Given the description of an element on the screen output the (x, y) to click on. 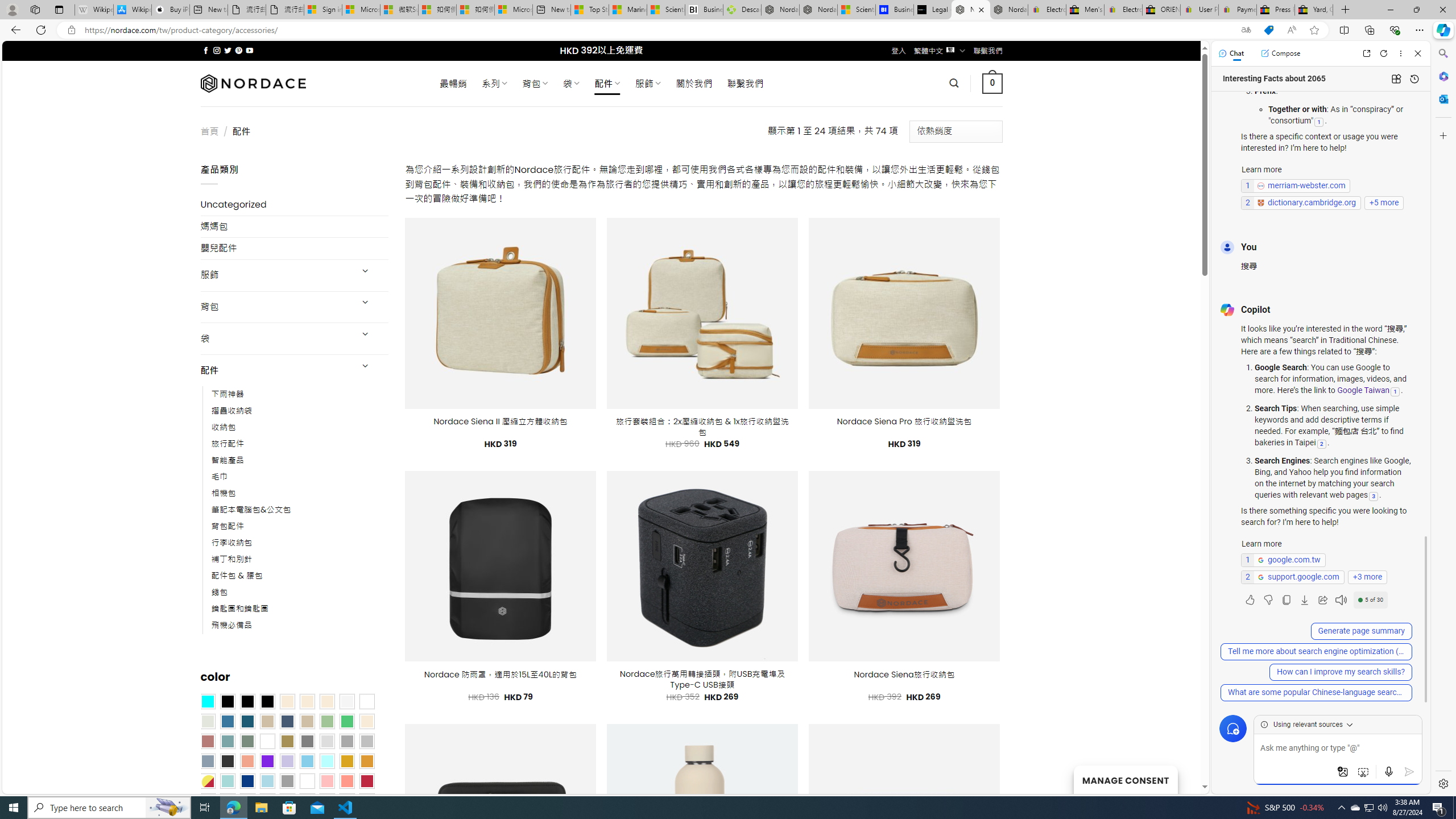
  0   (992, 83)
Payments Terms of Use | eBay.com (1237, 9)
